Given the description of an element on the screen output the (x, y) to click on. 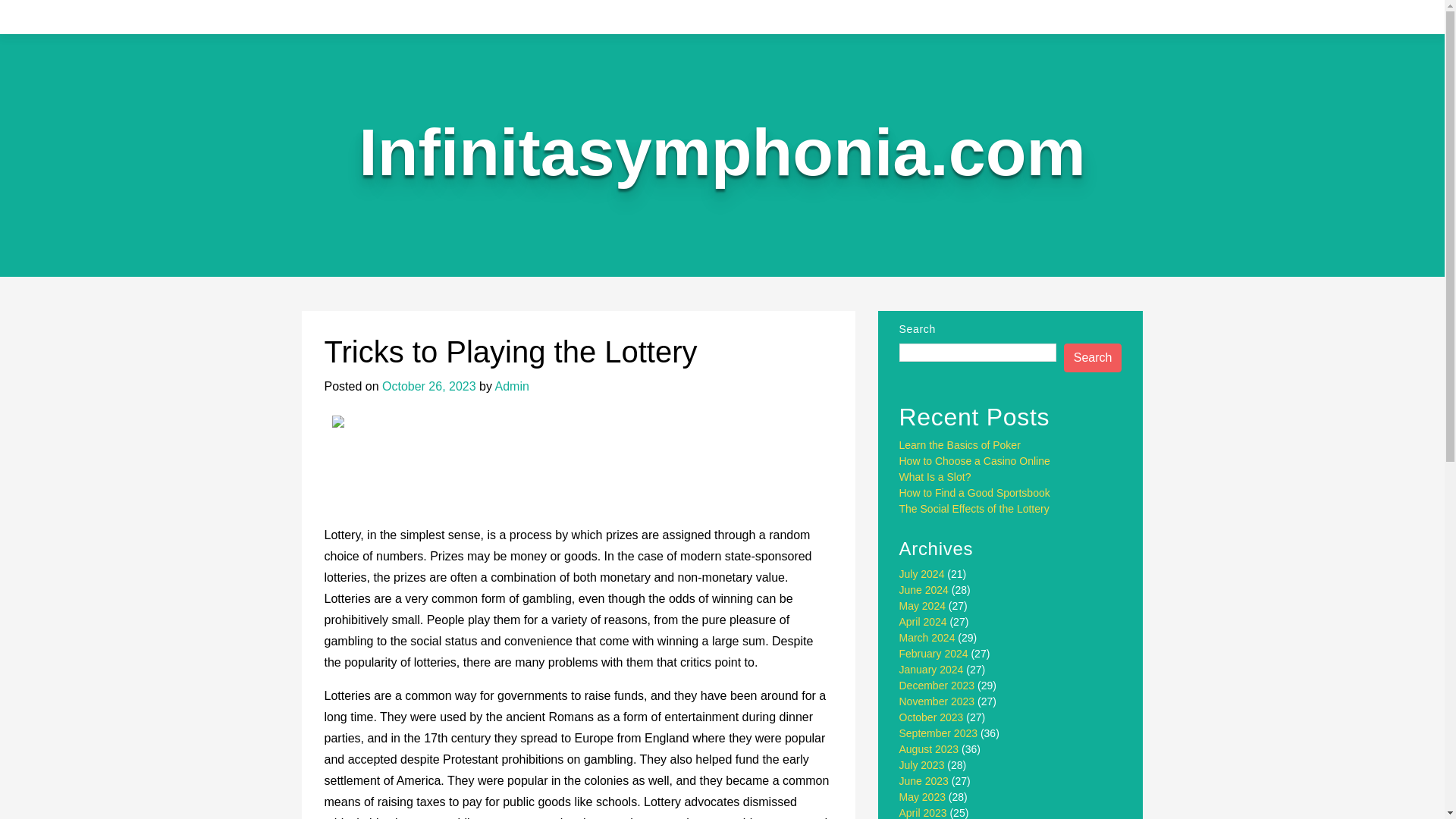
Search (1093, 357)
November 2023 (937, 701)
June 2023 (924, 780)
April 2024 (923, 621)
October 26, 2023 (428, 386)
September 2023 (938, 733)
June 2024 (924, 589)
December 2023 (937, 685)
What Is a Slot? (935, 476)
August 2023 (929, 748)
Admin (512, 386)
July 2024 (921, 573)
January 2024 (931, 669)
May 2023 (921, 797)
March 2024 (927, 637)
